Given the description of an element on the screen output the (x, y) to click on. 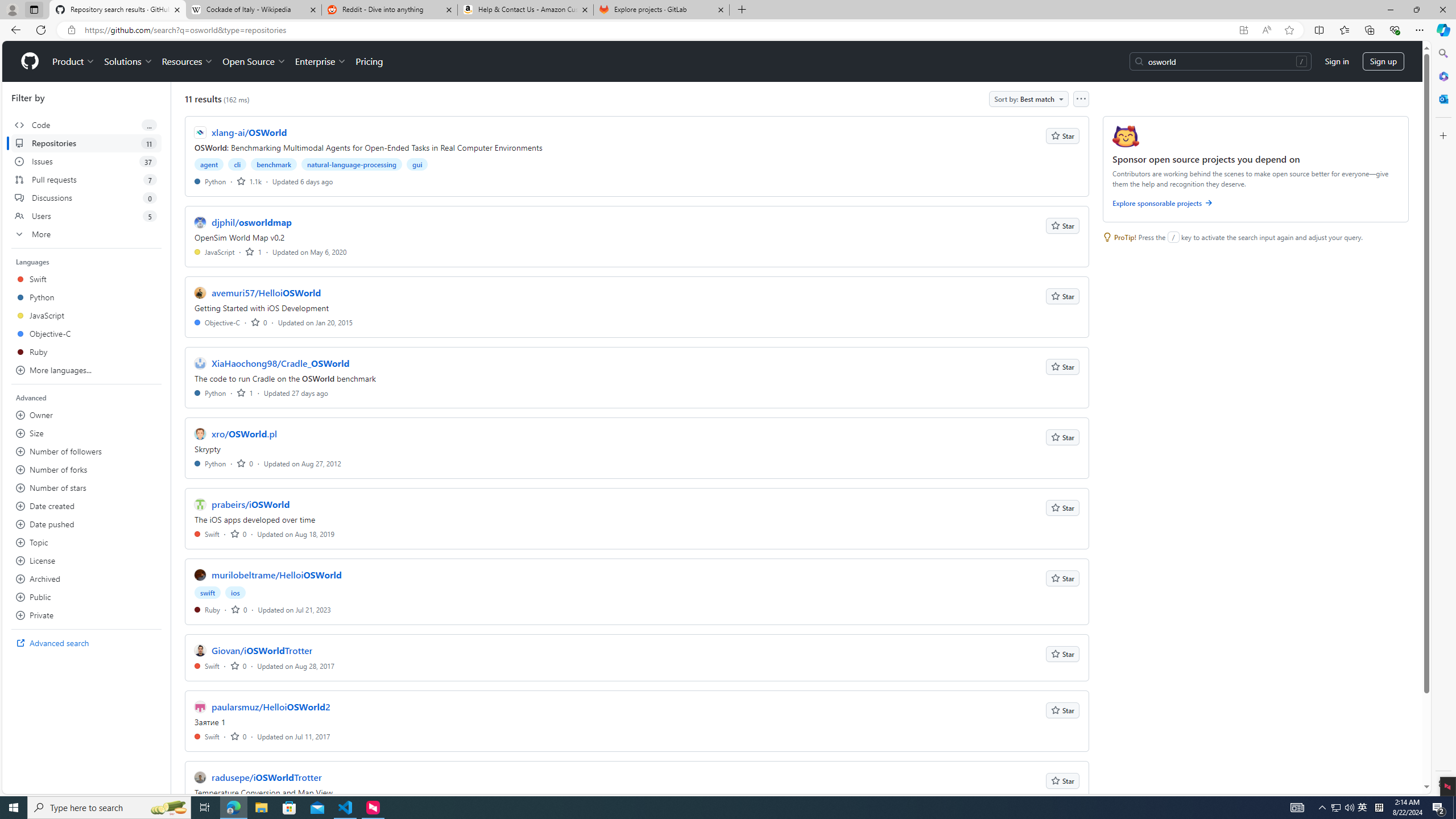
0 (238, 736)
avemuri57/HelloiOSWorld (266, 292)
Updated 6 days ago (302, 181)
Enterprise (319, 60)
Settings and more (Alt+F) (1419, 29)
Updated on Jul 21, 2023 (293, 609)
1.1k (248, 181)
xro/OSWorld.pl (244, 433)
Minimize (1390, 9)
